Given the description of an element on the screen output the (x, y) to click on. 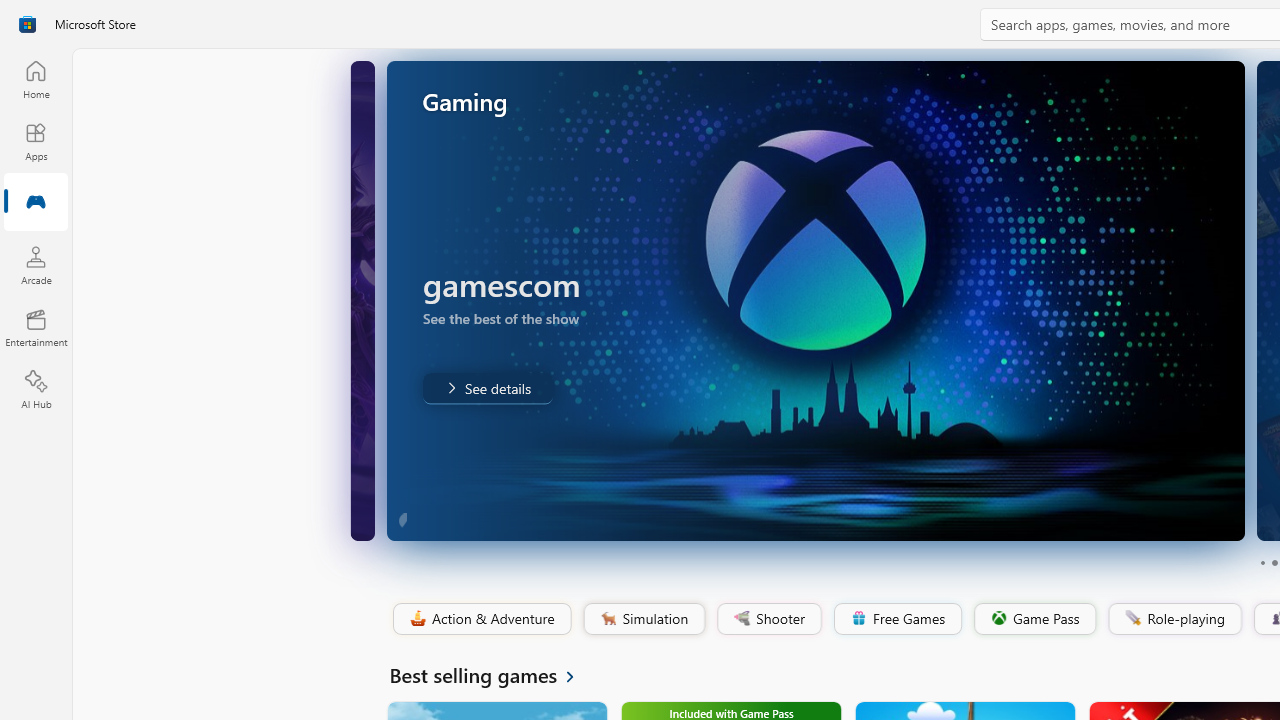
Simulation (643, 619)
gamescom. See the best of the show.  . See details (486, 387)
AutomationID: Image (815, 300)
